Given the description of an element on the screen output the (x, y) to click on. 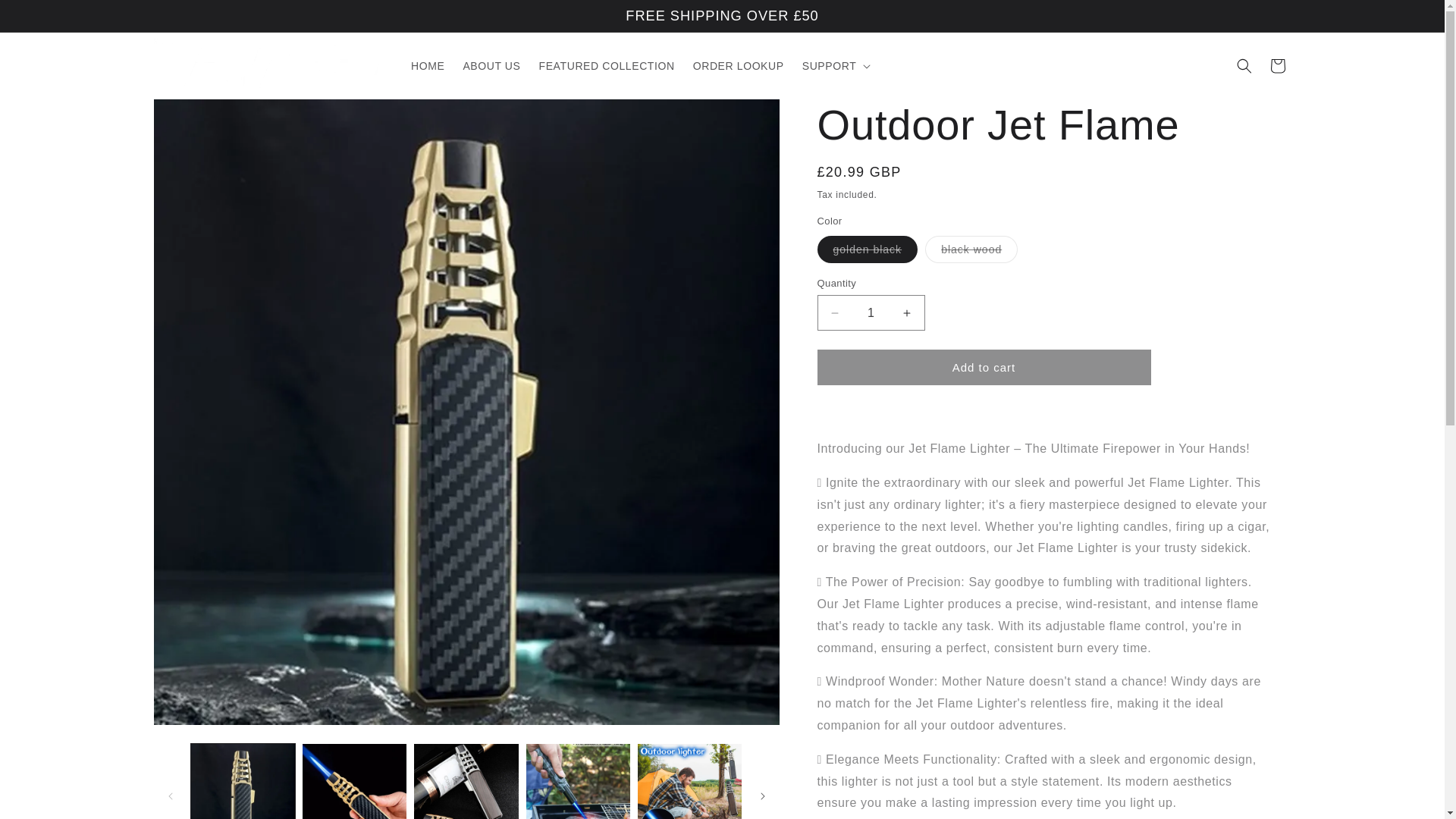
ORDER LOOKUP (738, 65)
Skip to product information (199, 116)
1 (870, 312)
Cart (1277, 65)
FEATURED COLLECTION (606, 65)
ABOUT US (490, 65)
Skip to content (45, 17)
HOME (426, 65)
